Given the description of an element on the screen output the (x, y) to click on. 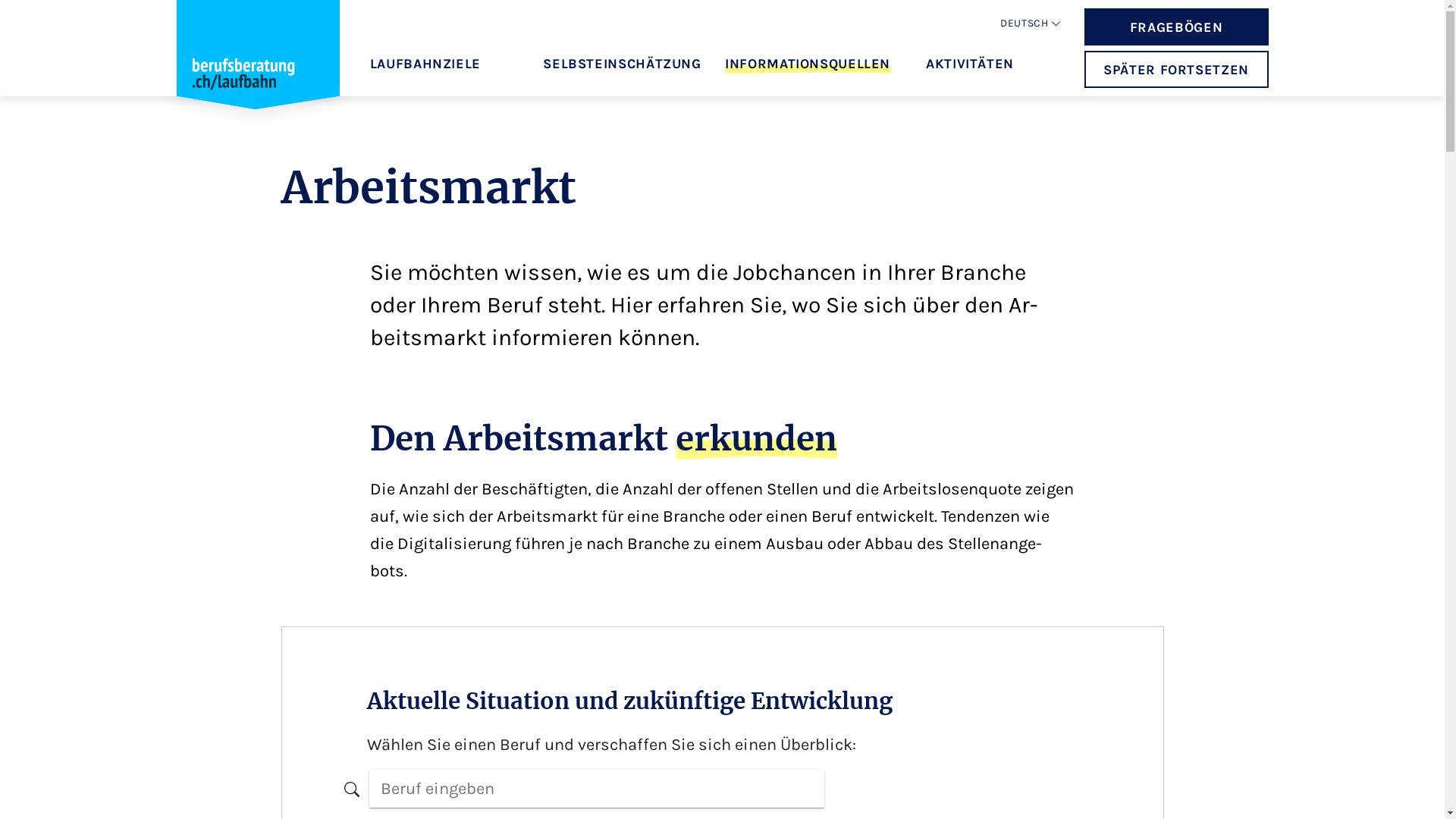
berufsberatung.ch/laufbahn Element type: hover (256, 68)
Home Element type: text (256, 61)
DEUTSCH Element type: text (1023, 23)
